Given the description of an element on the screen output the (x, y) to click on. 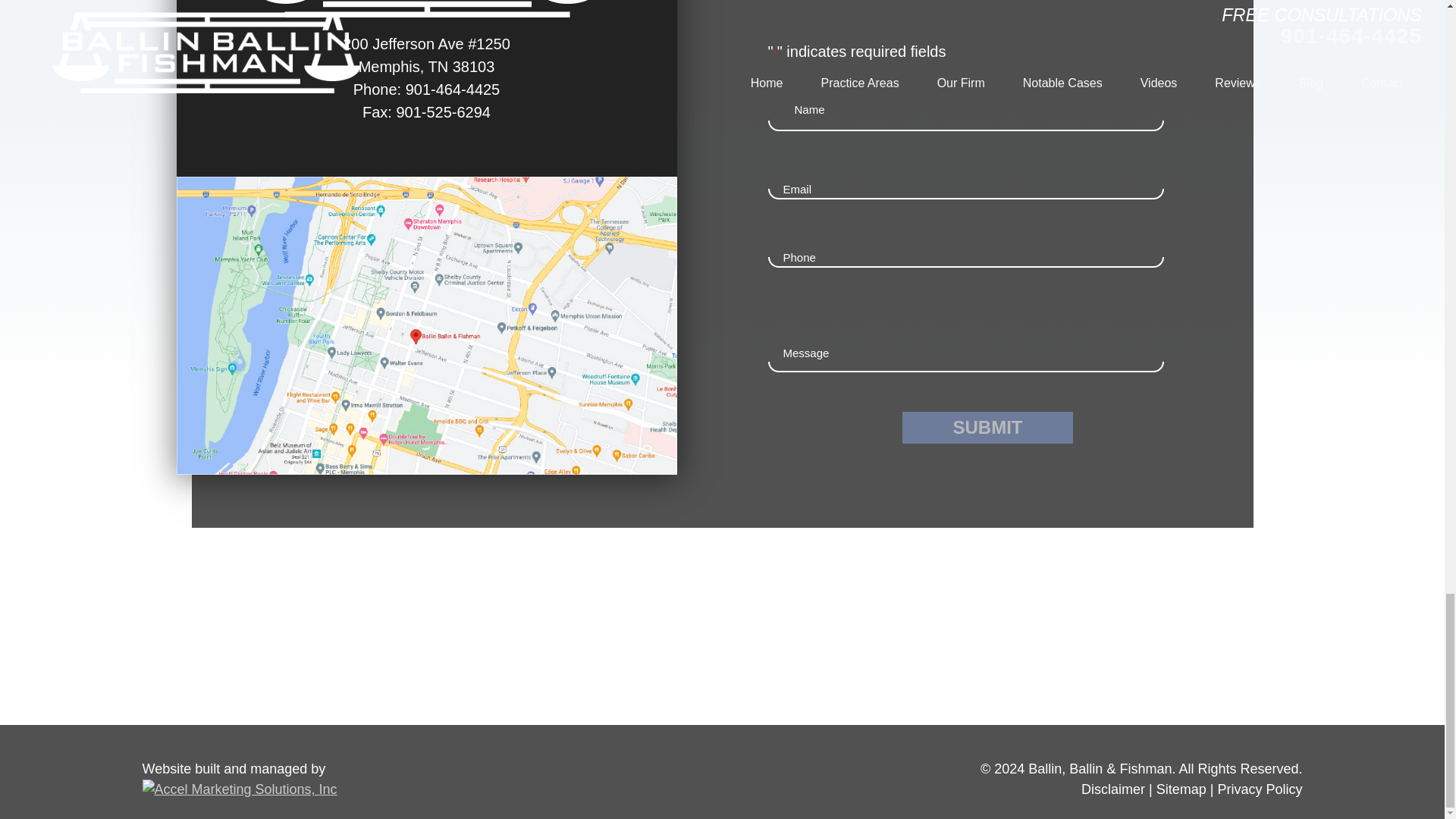
Submit (987, 427)
